Given the description of an element on the screen output the (x, y) to click on. 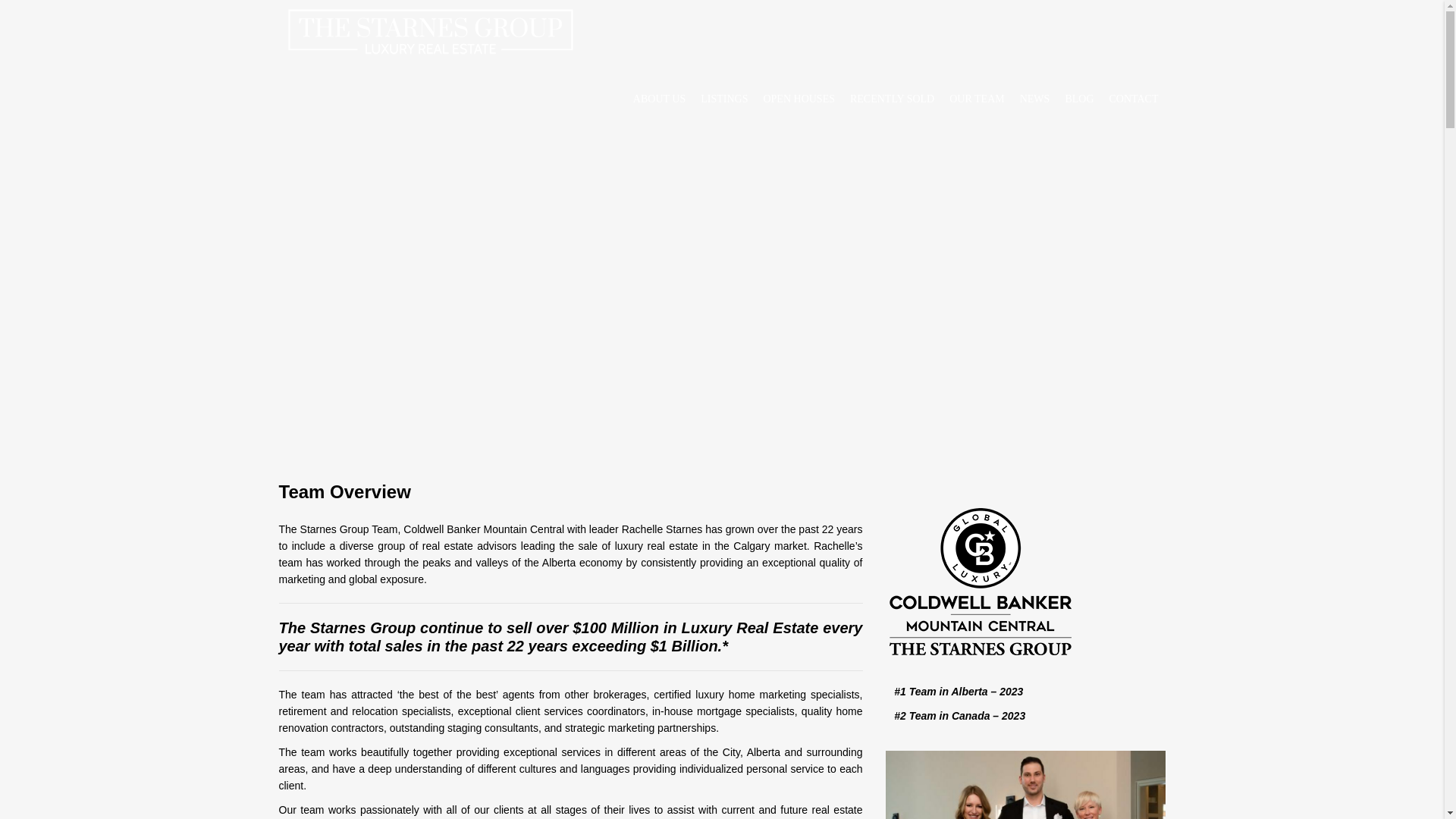
LISTINGS (724, 99)
RECENTLY SOLD (892, 99)
CONTACT (1133, 99)
OPEN HOUSES (799, 99)
ABOUT US (659, 99)
OUR TEAM (976, 99)
